Given the description of an element on the screen output the (x, y) to click on. 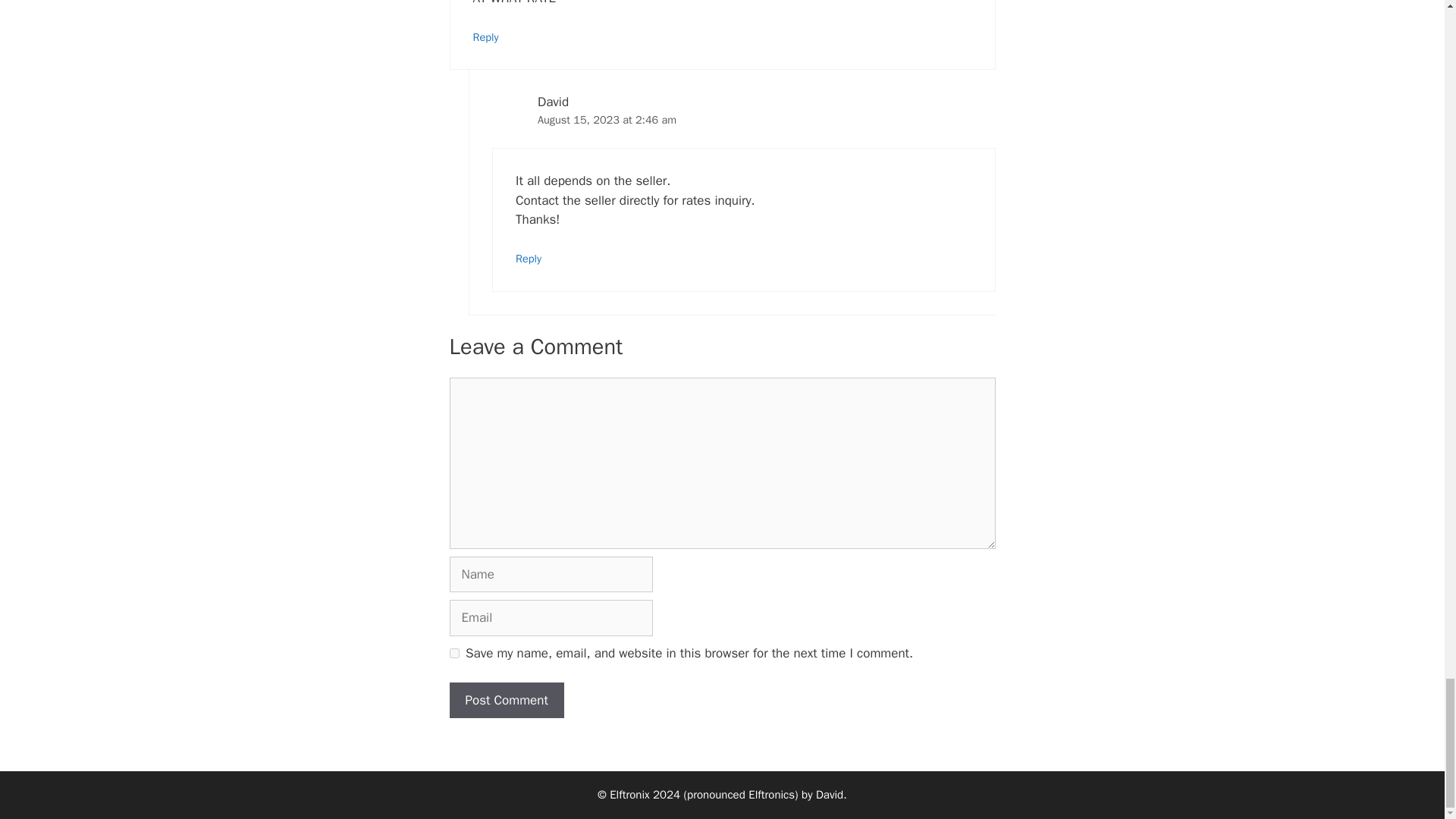
Post Comment (505, 700)
yes (453, 653)
